Given the description of an element on the screen output the (x, y) to click on. 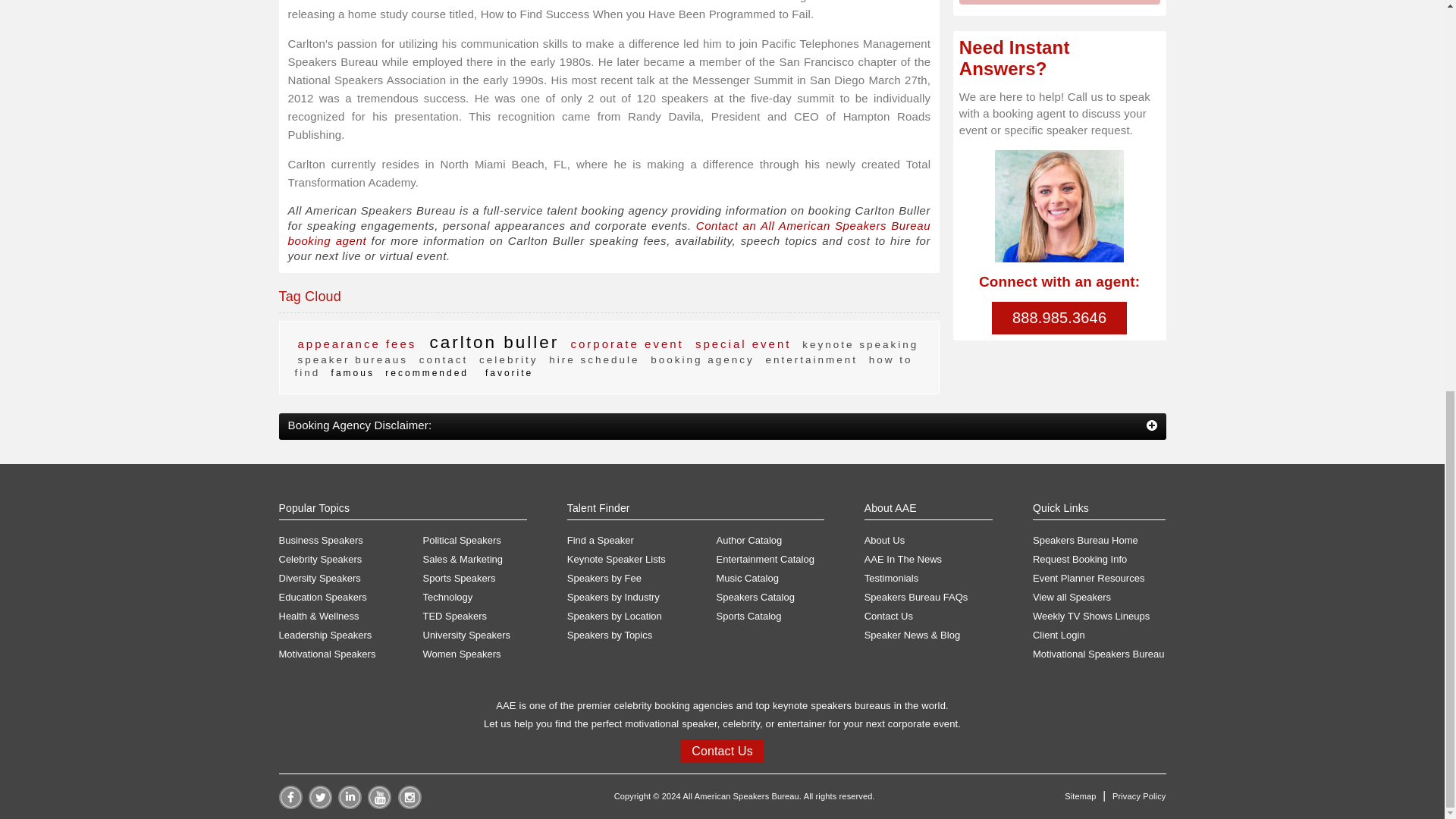
Celebrity Speakers (351, 559)
Instagram (409, 804)
SUBMIT (1059, 2)
Linkedin (349, 804)
Business Speakers (351, 540)
You Tube (379, 804)
888.985.3646 (1058, 318)
Facebook (290, 804)
Leadership Speakers (351, 635)
Education Speakers (351, 597)
Motivational Speakers (351, 653)
AAE Team (1059, 205)
Diversity Speakers (351, 578)
Contact an All American Speakers Bureau booking agent (609, 233)
Twitter (319, 804)
